Given the description of an element on the screen output the (x, y) to click on. 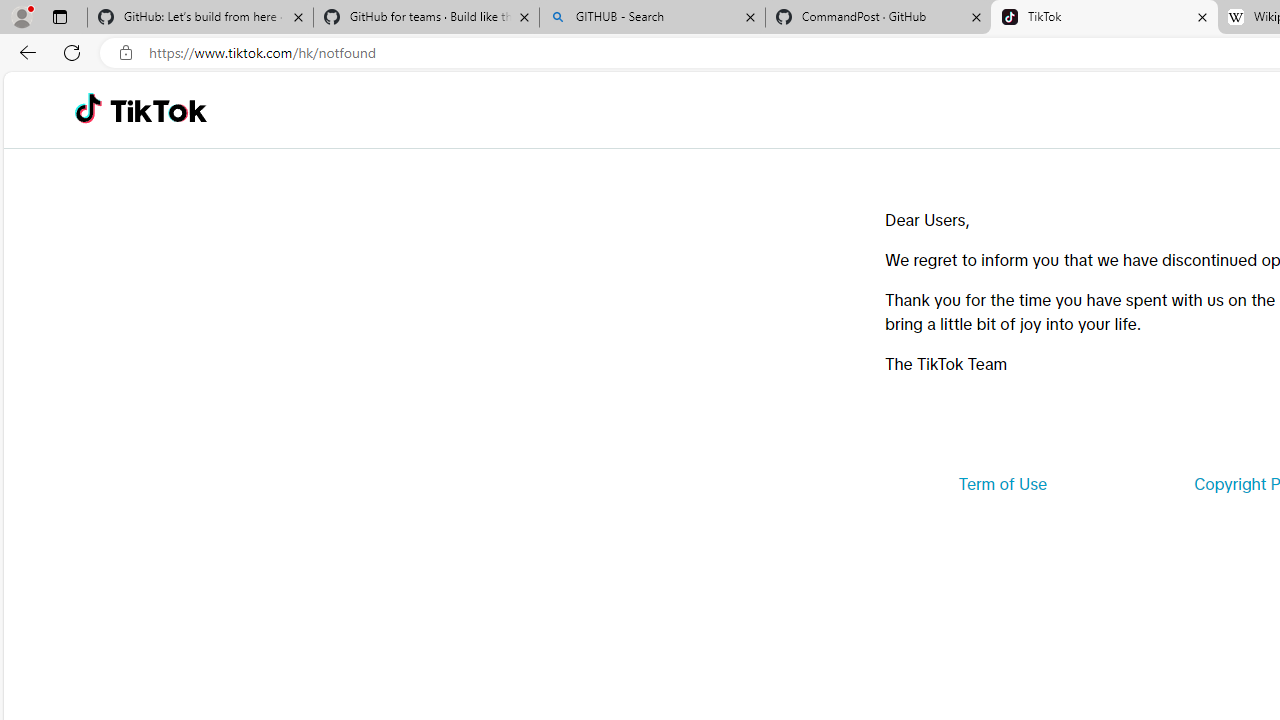
GITHUB - Search (652, 17)
TikTok (1104, 17)
TikTok (158, 110)
Term of Use (1002, 484)
